Given the description of an element on the screen output the (x, y) to click on. 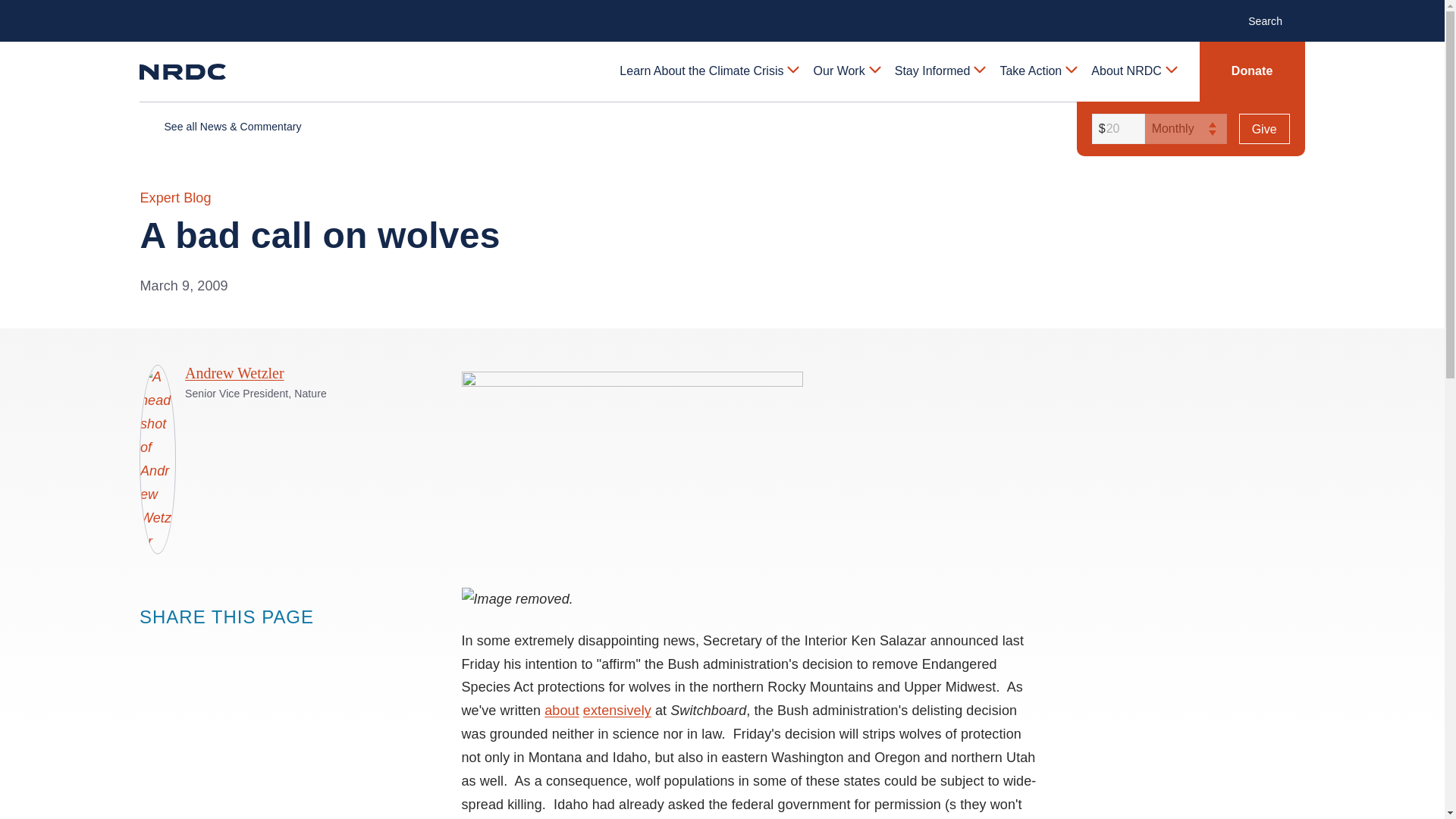
Learn About the Climate Crisis (707, 71)
Share this page block (180, 645)
Stay Informed (939, 71)
20 (1116, 128)
Skip to main content (721, 12)
Share this page block (210, 645)
Share this page block (149, 645)
Search (1272, 19)
Our Work (846, 71)
